Given the description of an element on the screen output the (x, y) to click on. 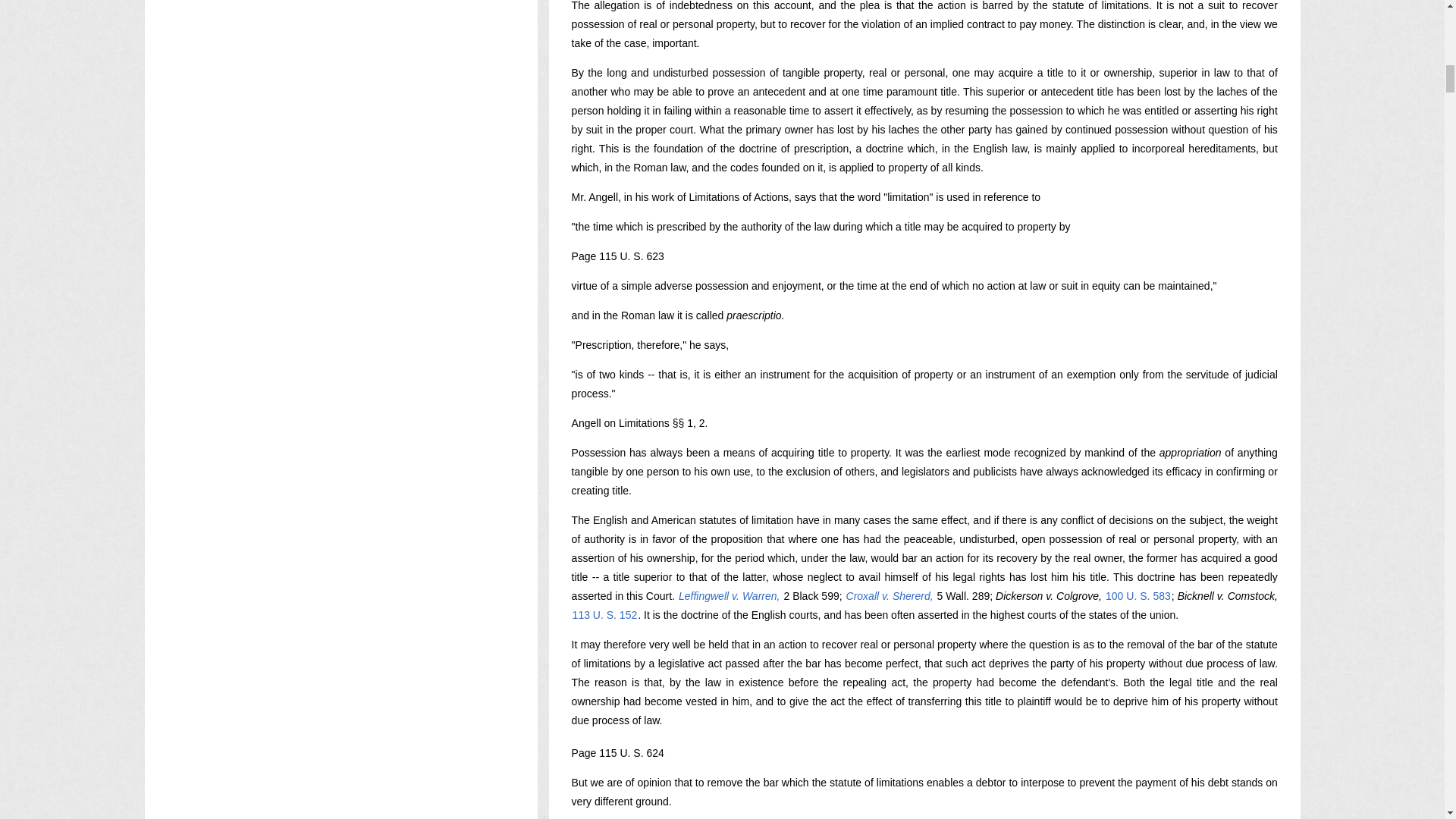
Page 115 U. S. 624 (617, 752)
Page 115 U. S. 623 (617, 256)
Advertisement (340, 101)
Leffingwell v. Warren, (729, 595)
Croxall v. Shererd, (889, 595)
113 U. S. 152 (605, 614)
Advertisement (340, 744)
